Given the description of an element on the screen output the (x, y) to click on. 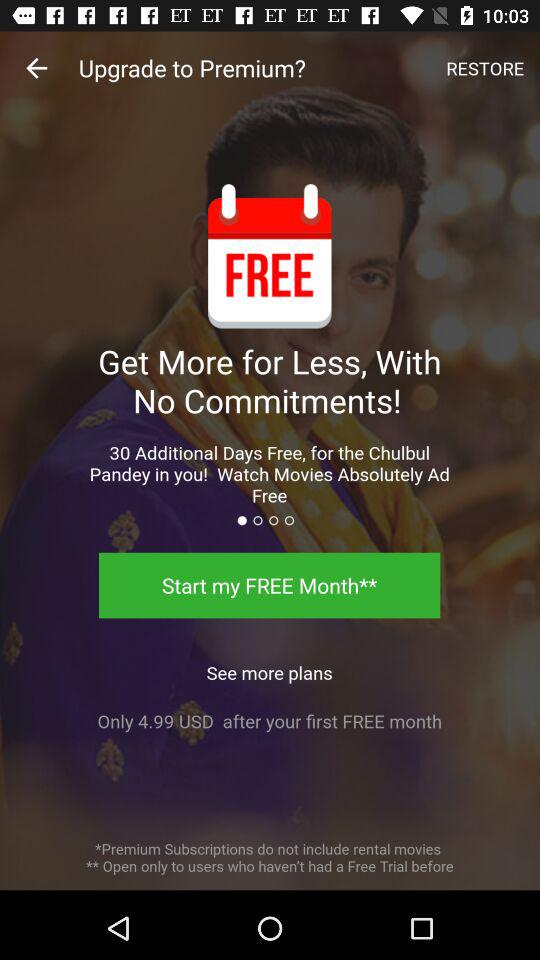
jump to see more plans icon (269, 667)
